Given the description of an element on the screen output the (x, y) to click on. 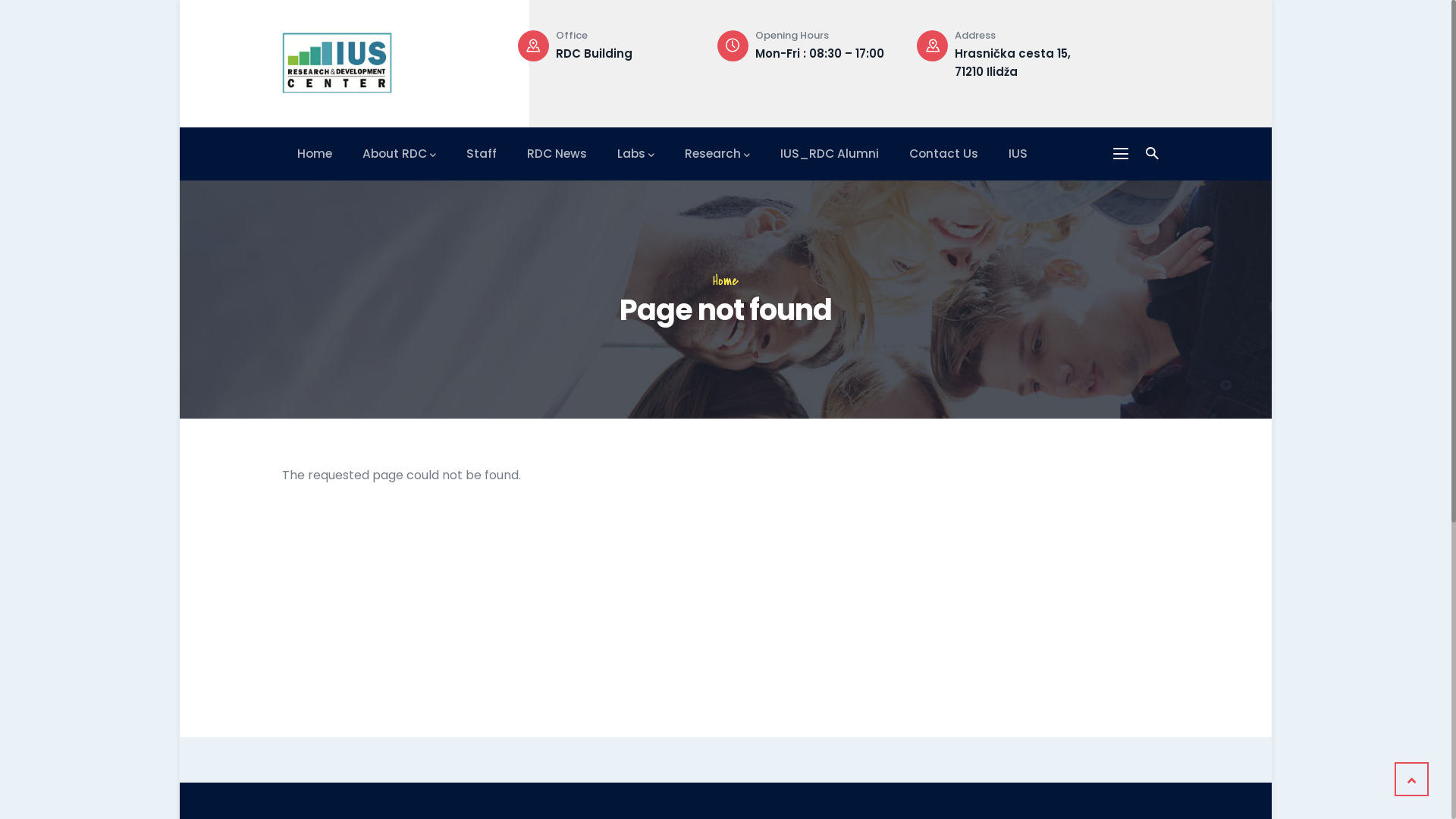
Home Element type: text (725, 280)
Staff Element type: text (481, 153)
About RDC Element type: text (399, 153)
IUS_RDC Alumni Element type: text (829, 153)
Home Element type: text (314, 153)
Contact Us Element type: text (943, 153)
Home Element type: hover (337, 59)
RDC News Element type: text (556, 153)
+387 33 957 226 Element type: text (602, 53)
Labs Element type: text (635, 153)
IUS Element type: text (1017, 153)
Research Element type: text (716, 153)
Skip to main content Element type: text (179, 0)
